Given the description of an element on the screen output the (x, y) to click on. 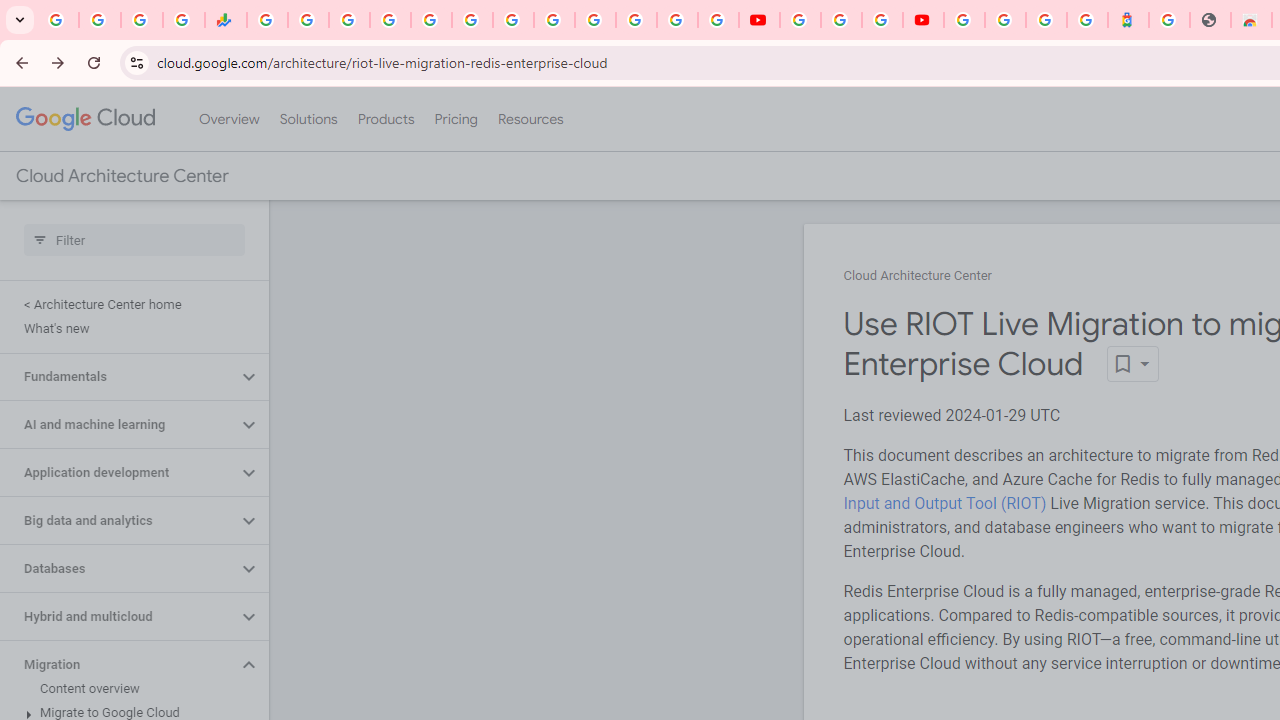
Pricing (455, 119)
YouTube (799, 20)
Big data and analytics (118, 520)
What's new (130, 328)
Privacy Checkup (717, 20)
